Given the description of an element on the screen output the (x, y) to click on. 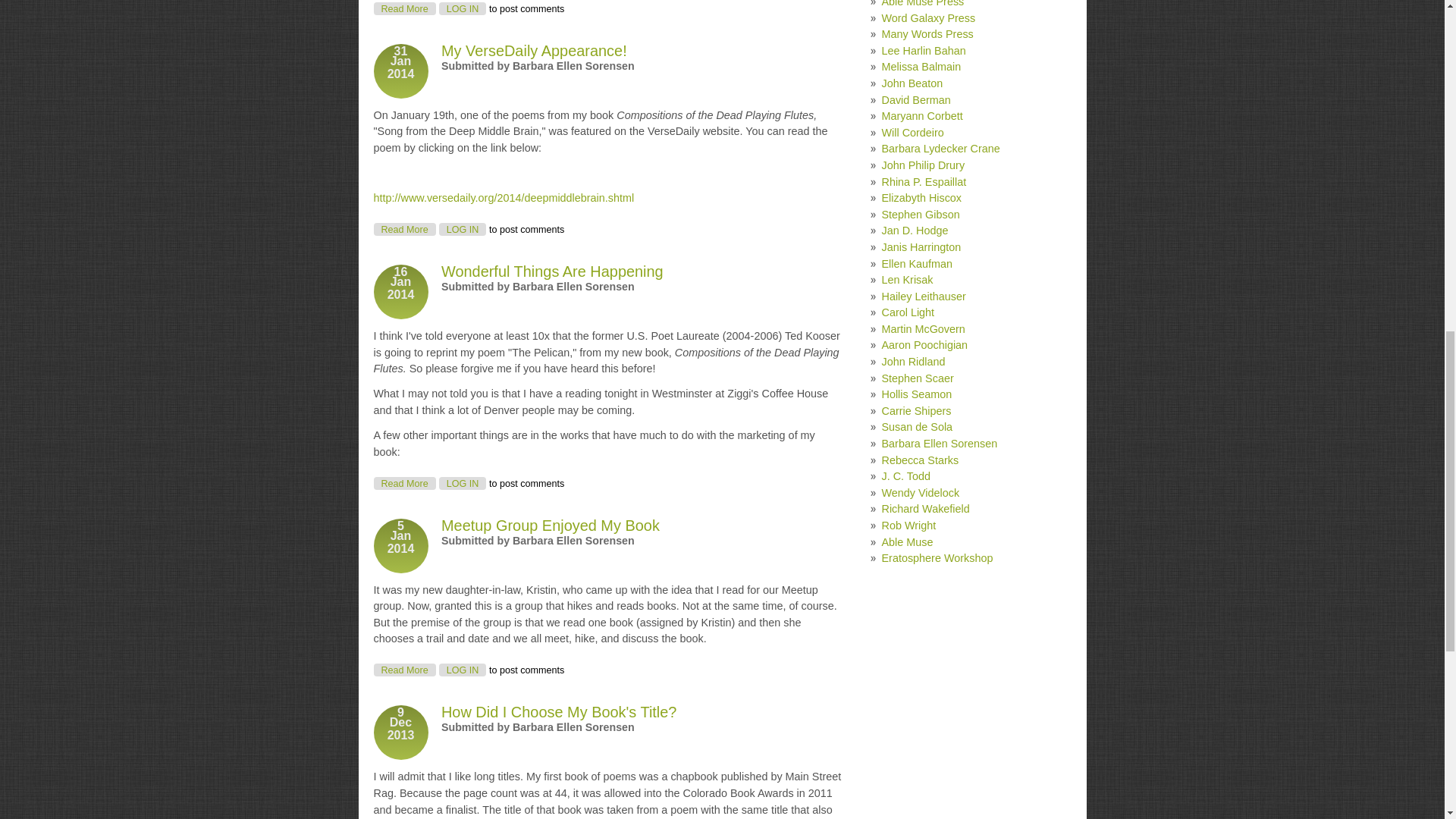
My VerseDaily Appearance! (534, 50)
My VerseDaily Appearance! (403, 228)
Wonderful Things Are Happening  (403, 482)
Meetup Group Enjoyed My Book (403, 228)
Meetup Group Enjoyed My Book (552, 271)
LOG IN (403, 669)
Meetup Group Enjoyed My Book (403, 669)
Wonderful Things Are Happening (550, 524)
My VerseDaily Appearance! (462, 669)
How Did I Choose My Book's Title? (550, 524)
LOG IN (552, 271)
